Given the description of an element on the screen output the (x, y) to click on. 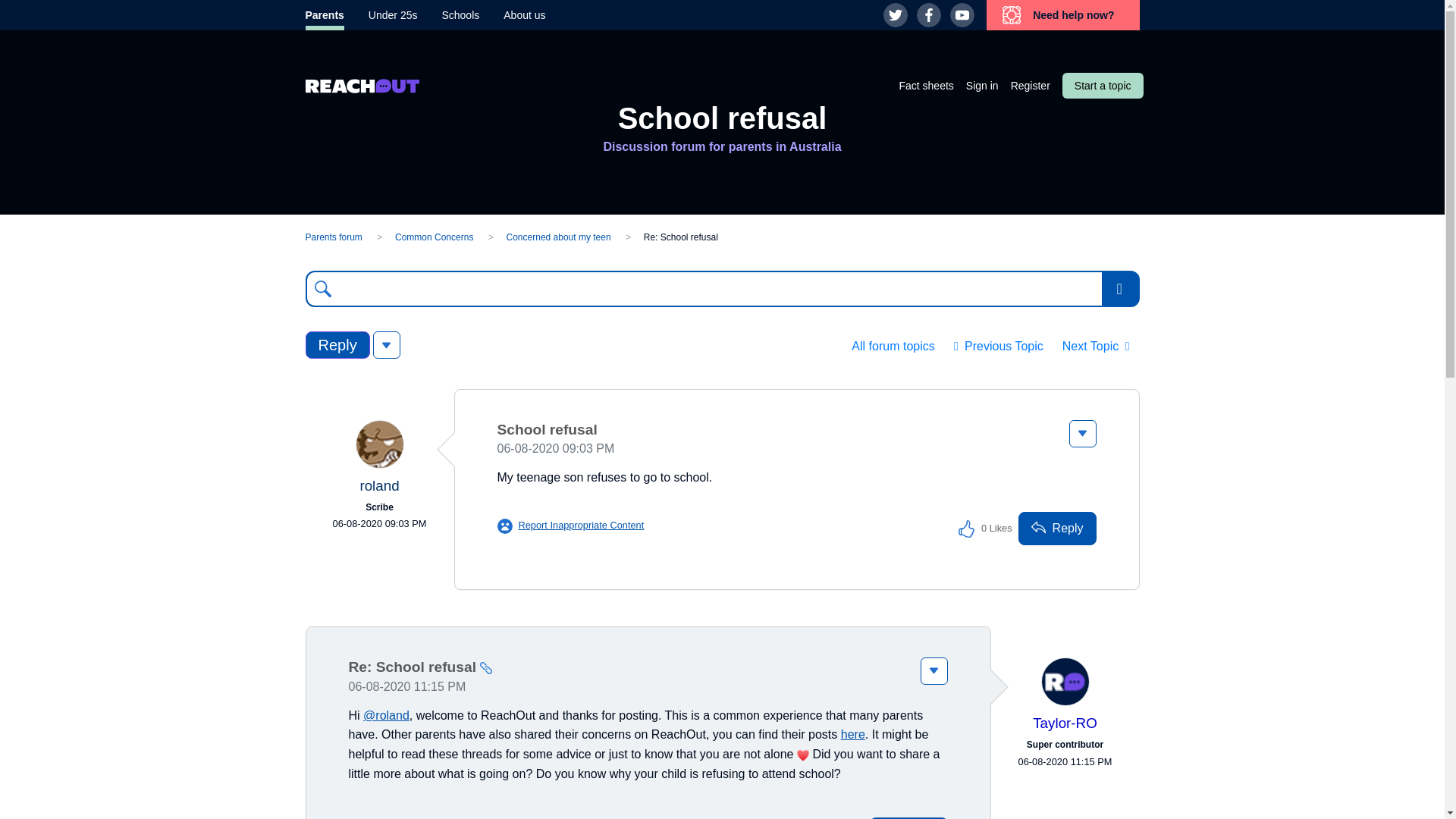
Fact sheets (925, 85)
Parents (323, 15)
Click here to give likes to this post. (965, 527)
Show option menu (1120, 289)
Show option menu (386, 344)
Posted on (378, 523)
Twitter (895, 15)
Under 25s (392, 15)
Common Concerns (433, 236)
Start a topic (1102, 85)
